Given the description of an element on the screen output the (x, y) to click on. 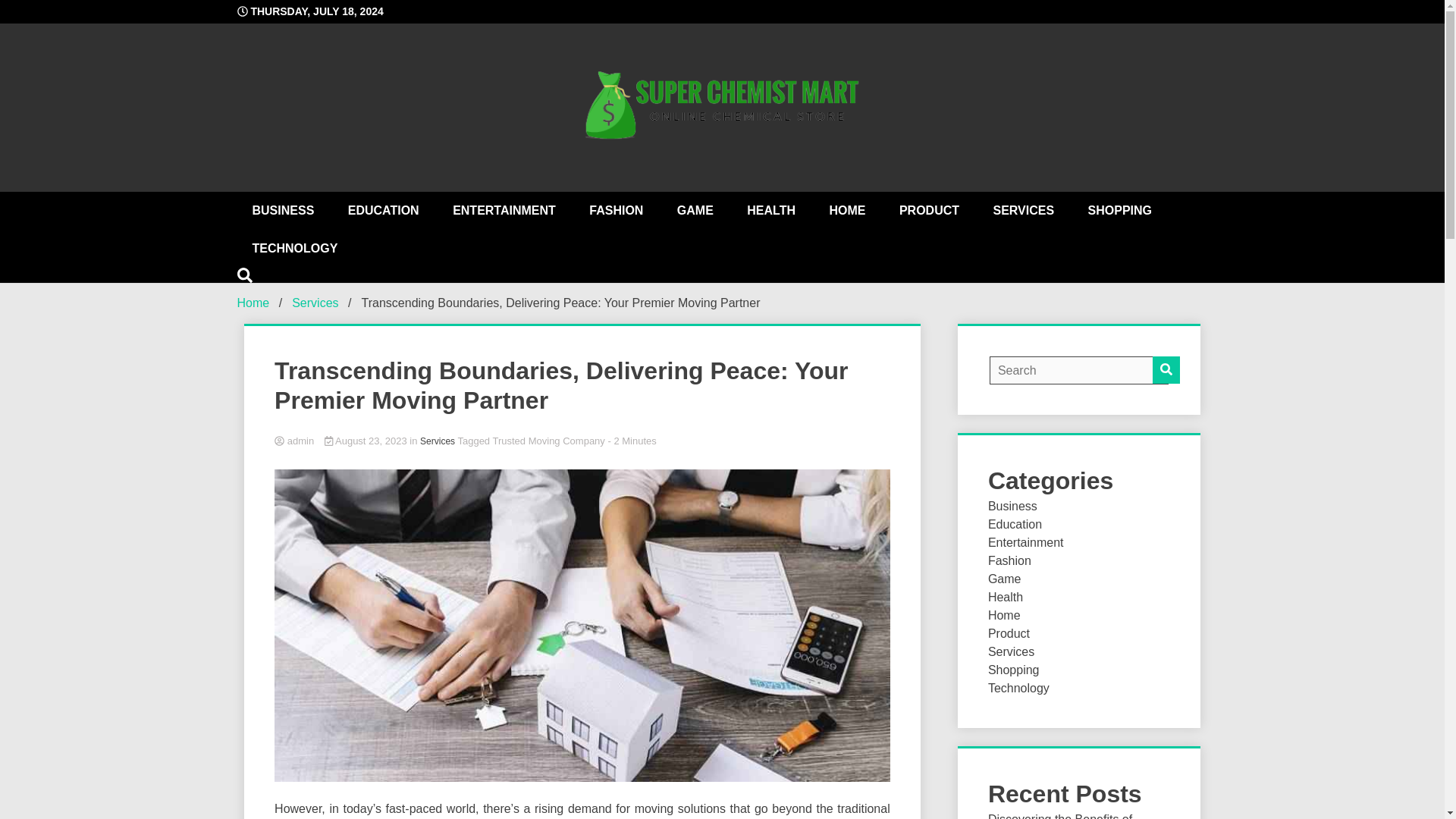
Home (252, 302)
BUSINESS (282, 210)
SHOPPING (1120, 210)
Trusted Moving Company (548, 440)
Super Chemist Mart (857, 267)
Services (437, 440)
August 23, 2023 (367, 440)
ENTERTAINMENT (504, 210)
GAME (695, 210)
PRODUCT (928, 210)
SERVICES (1022, 210)
EDUCATION (383, 210)
Services (314, 302)
Business (1012, 505)
admin (582, 440)
